Given the description of an element on the screen output the (x, y) to click on. 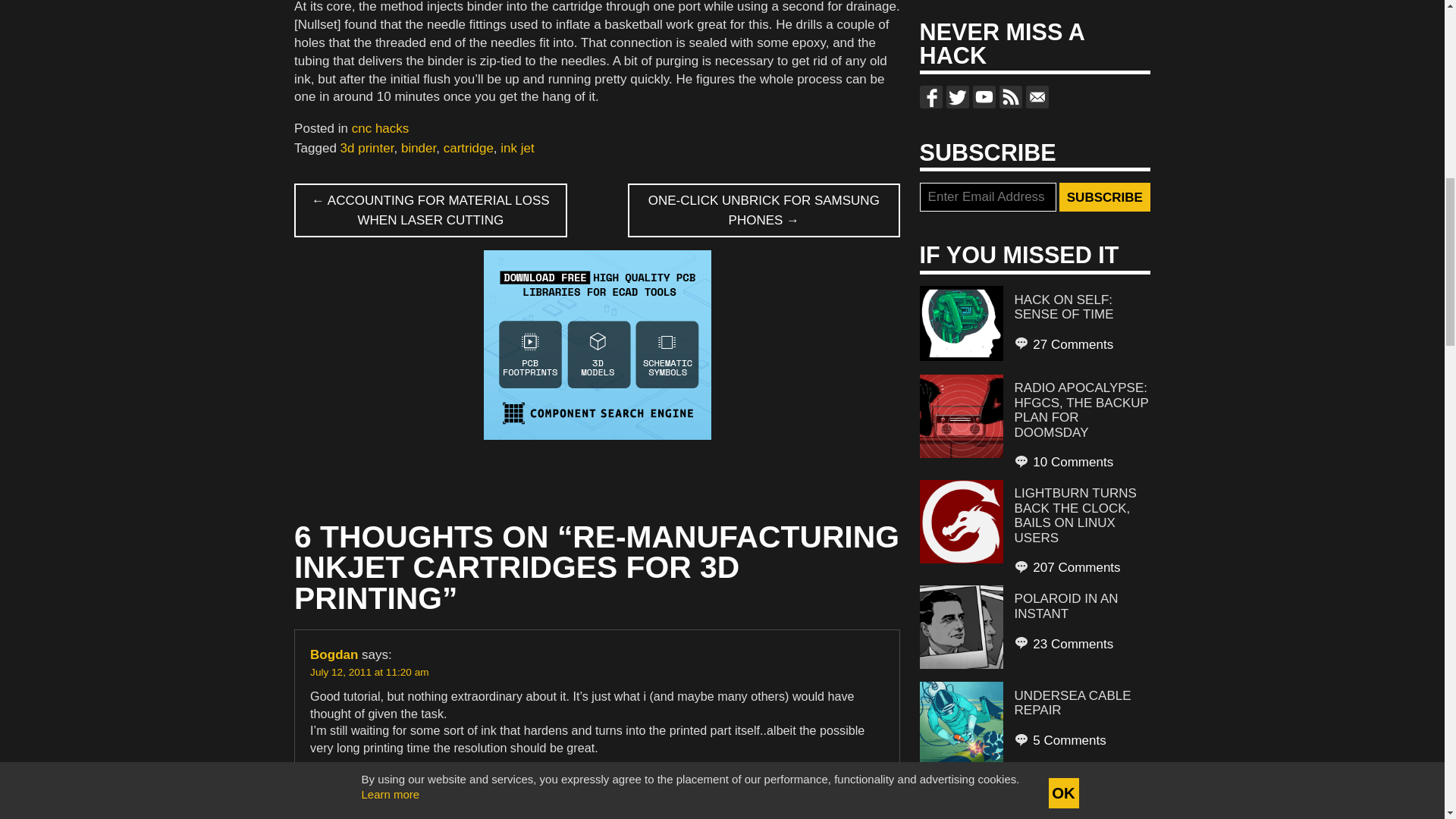
cartridge (468, 147)
3d printer (367, 147)
binder (418, 147)
Report comment (845, 778)
Bogdan (334, 654)
July 12, 2011 at 11:20 am (369, 672)
Subscribe (1104, 196)
Reply (326, 778)
cnc hacks (380, 128)
ink jet (517, 147)
